Given the description of an element on the screen output the (x, y) to click on. 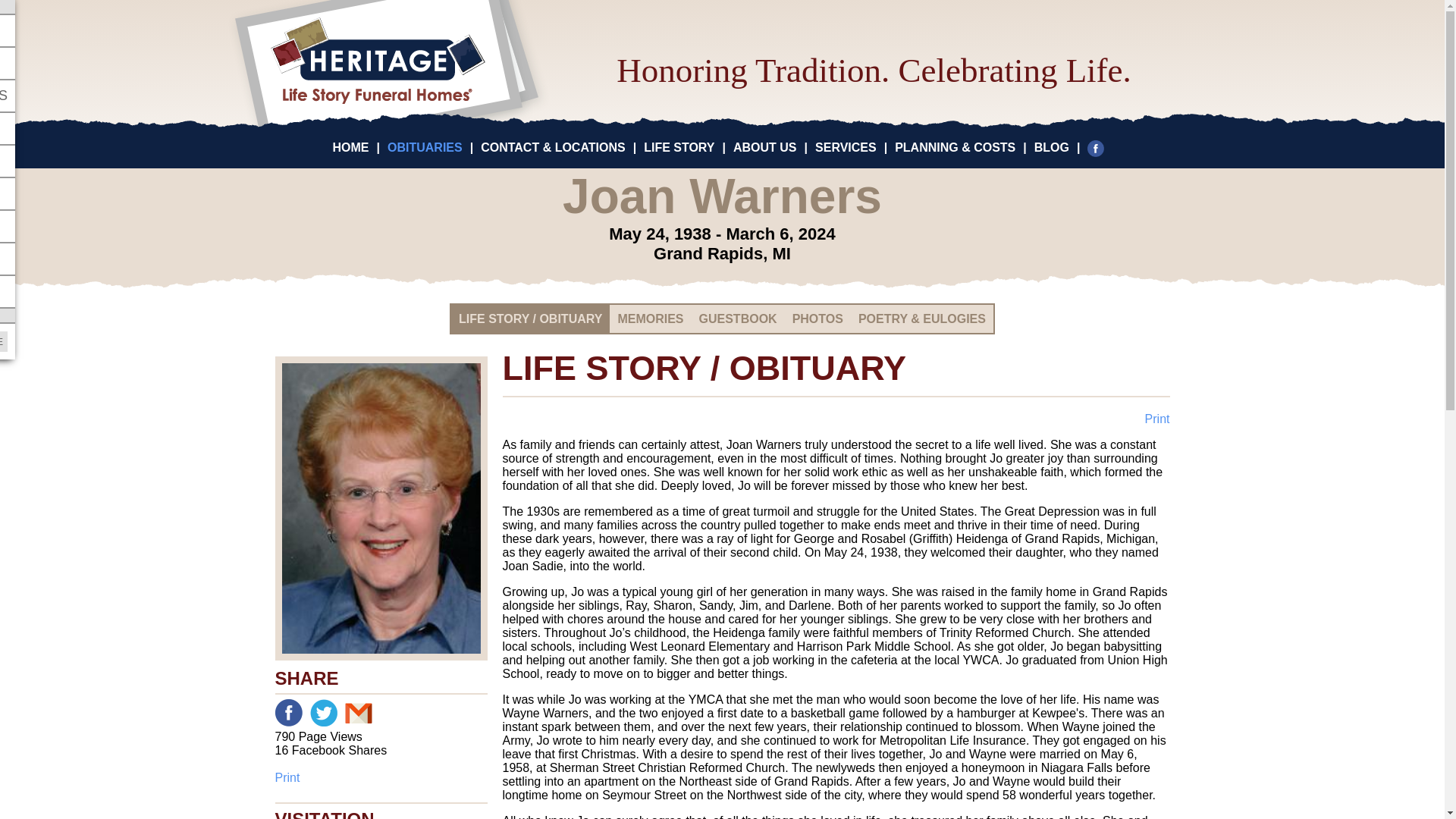
Twitter (322, 712)
Print (1157, 418)
Print (380, 777)
ABOUT US (764, 146)
Facebook (1099, 146)
MEMORIES (650, 318)
LIFE STORY (678, 146)
OBITUARIES (425, 146)
BLOG (1050, 146)
GUESTBOOK (737, 318)
